Given the description of an element on the screen output the (x, y) to click on. 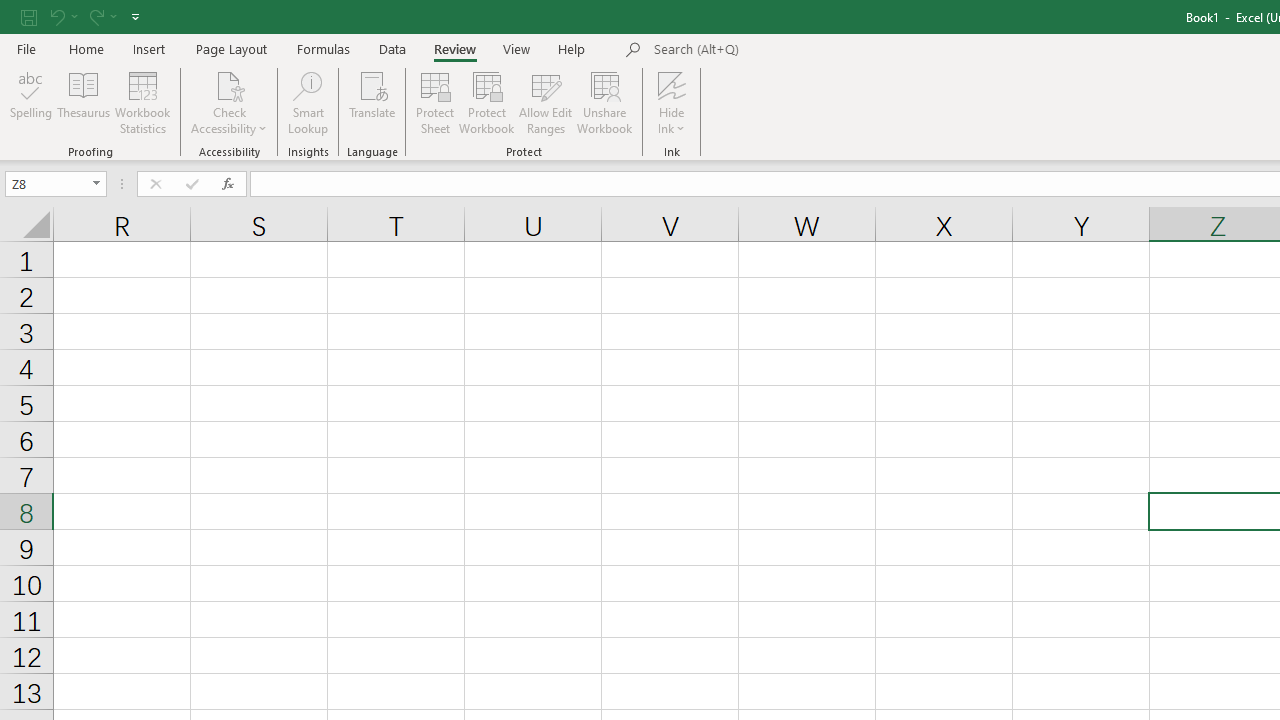
Check Accessibility (229, 102)
Protect Sheet... (434, 102)
Microsoft search (792, 49)
Unshare Workbook (604, 102)
View (517, 48)
Open (96, 183)
Spelling... (31, 102)
Smart Lookup (308, 102)
Customize Quick Access Toolbar (135, 15)
Quick Access Toolbar (82, 16)
Insert (149, 48)
